Given the description of an element on the screen output the (x, y) to click on. 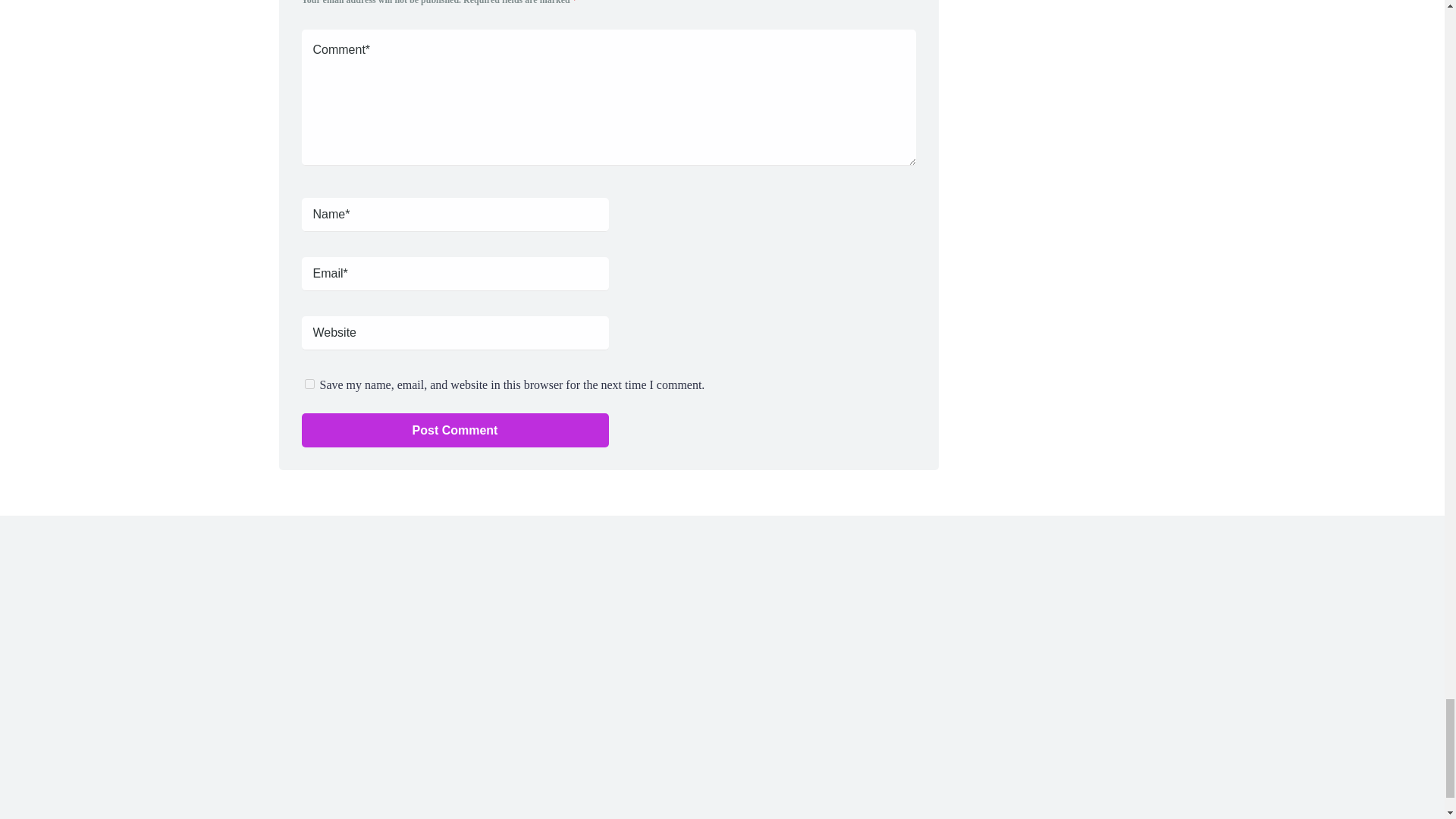
Post Comment (454, 430)
yes (309, 384)
Post Comment (454, 430)
